Given the description of an element on the screen output the (x, y) to click on. 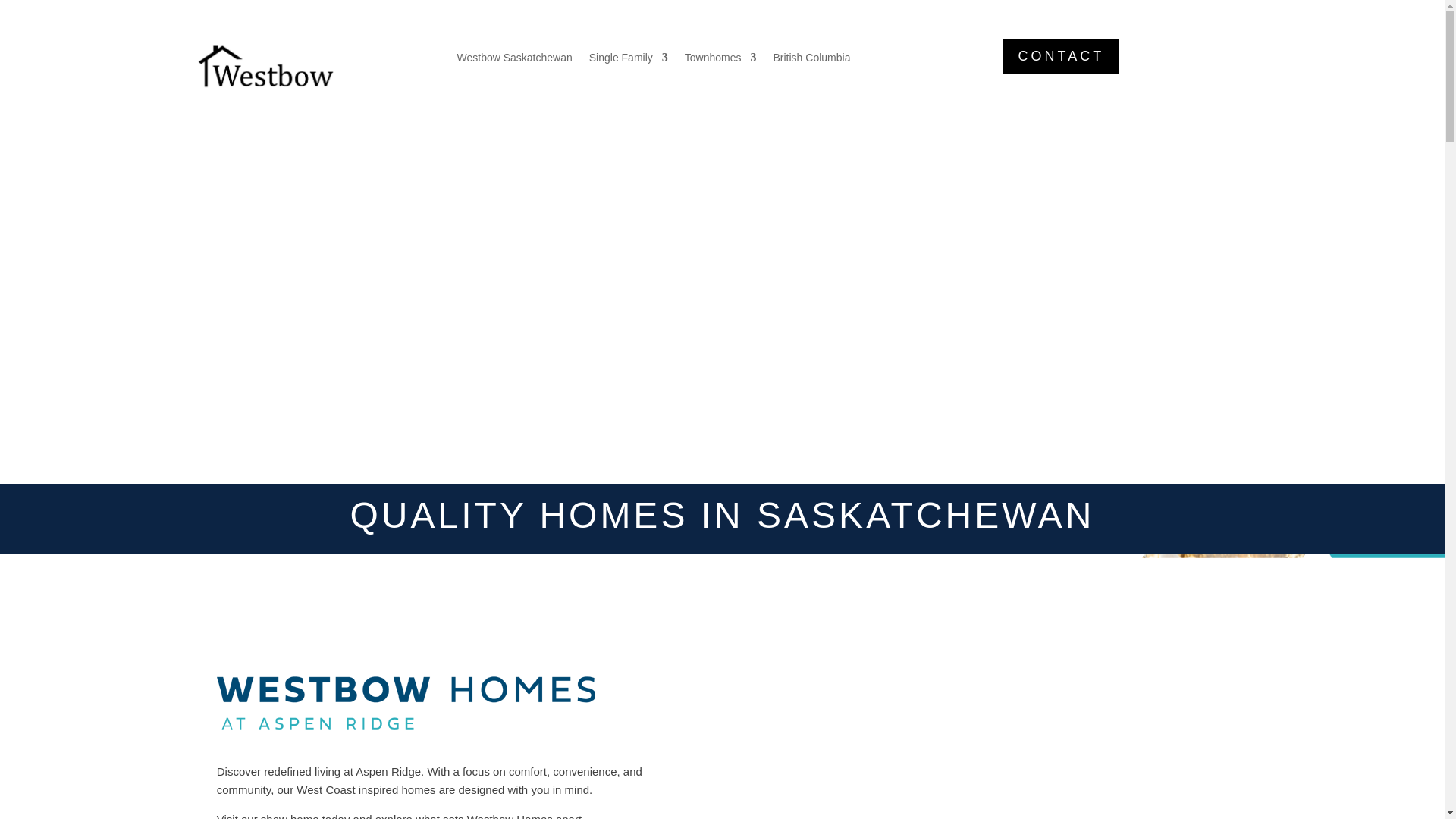
Single Family (628, 60)
Aspen-Logo-Text (405, 702)
Westbow Saskatchewan (514, 60)
Townhomes (720, 60)
British Columbia (811, 60)
CONTACT (1061, 56)
